Given the description of an element on the screen output the (x, y) to click on. 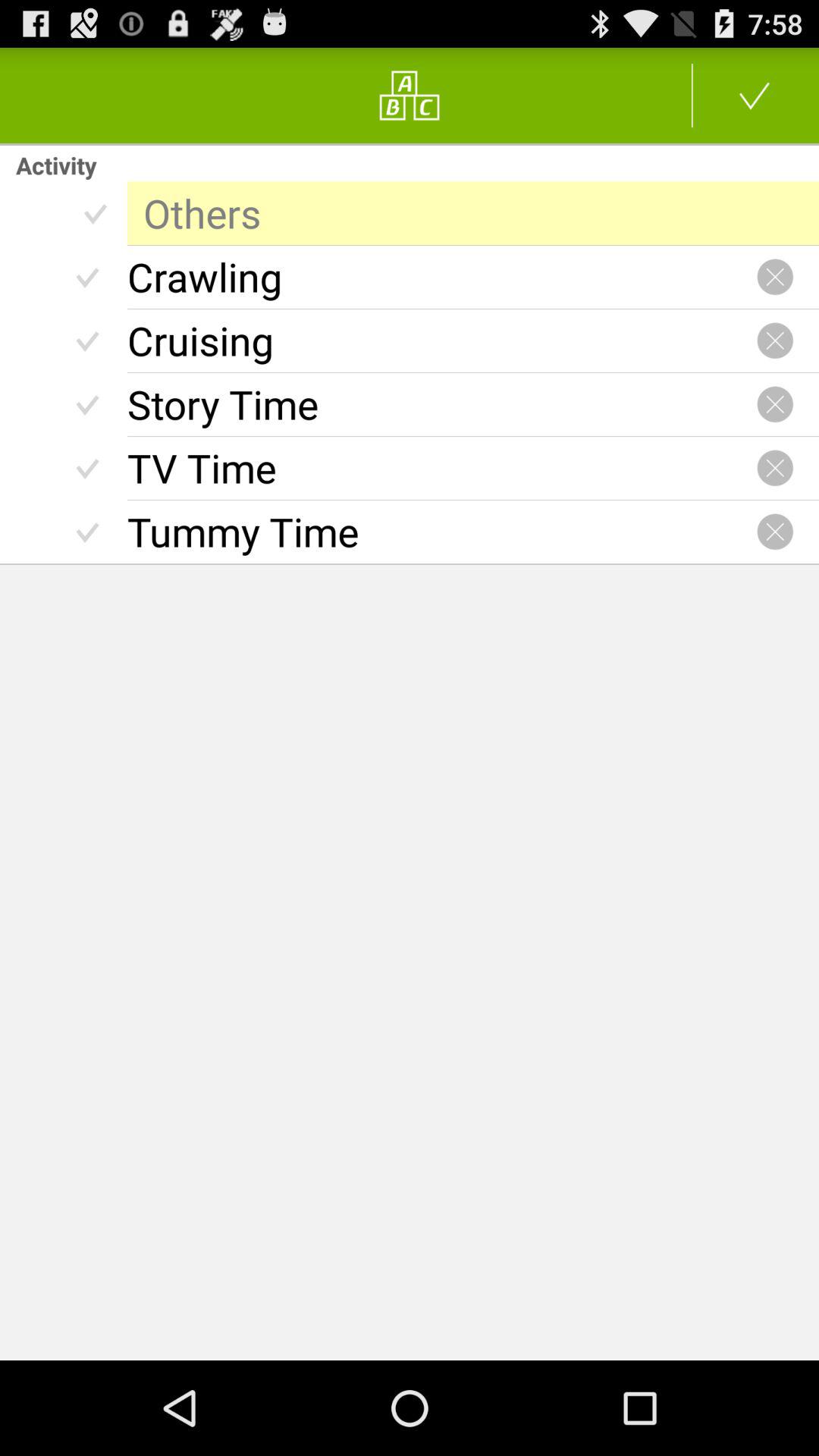
turn on tv time icon (441, 467)
